Given the description of an element on the screen output the (x, y) to click on. 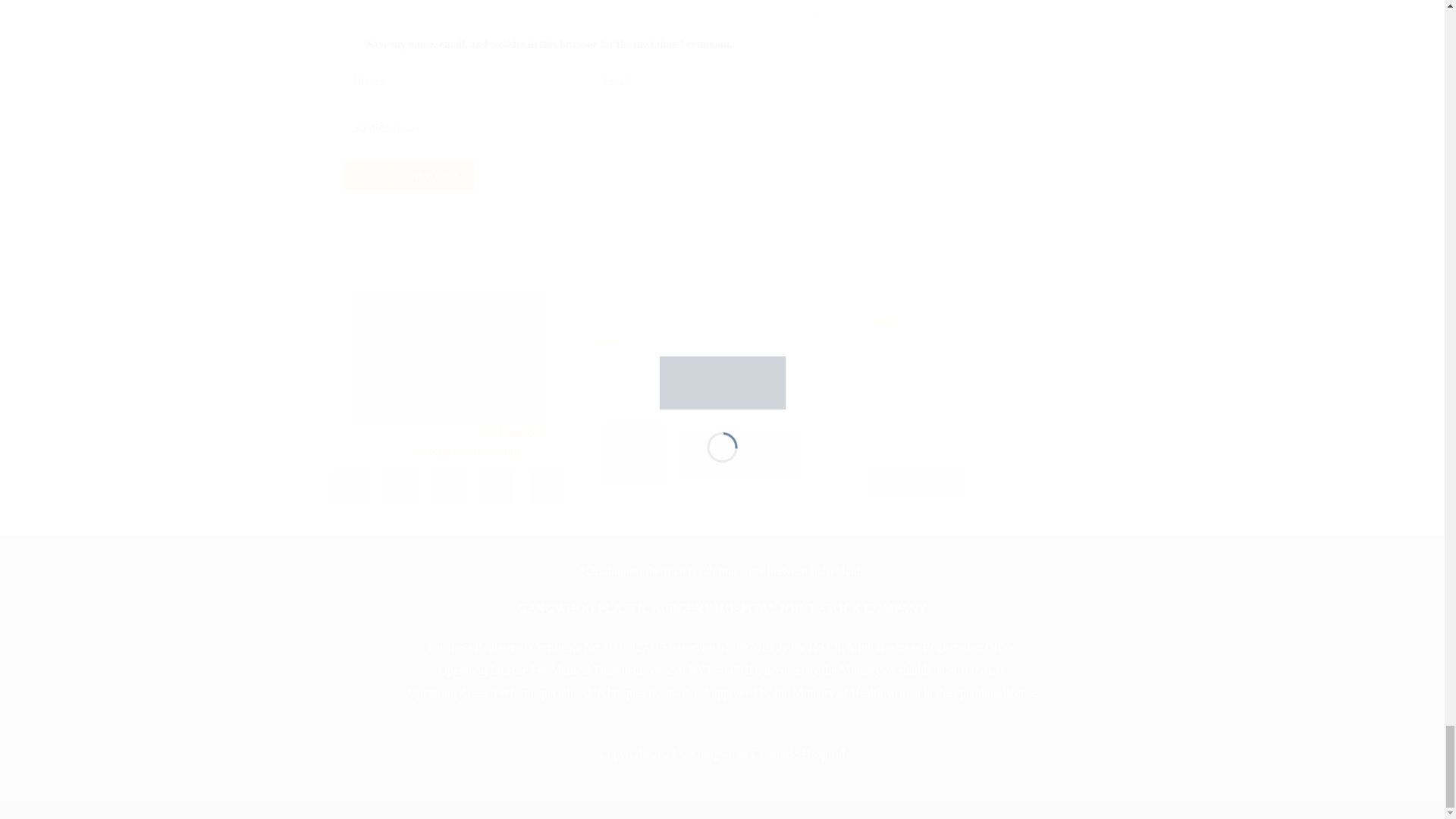
yes (350, 42)
Post Comment (408, 175)
